Given the description of an element on the screen output the (x, y) to click on. 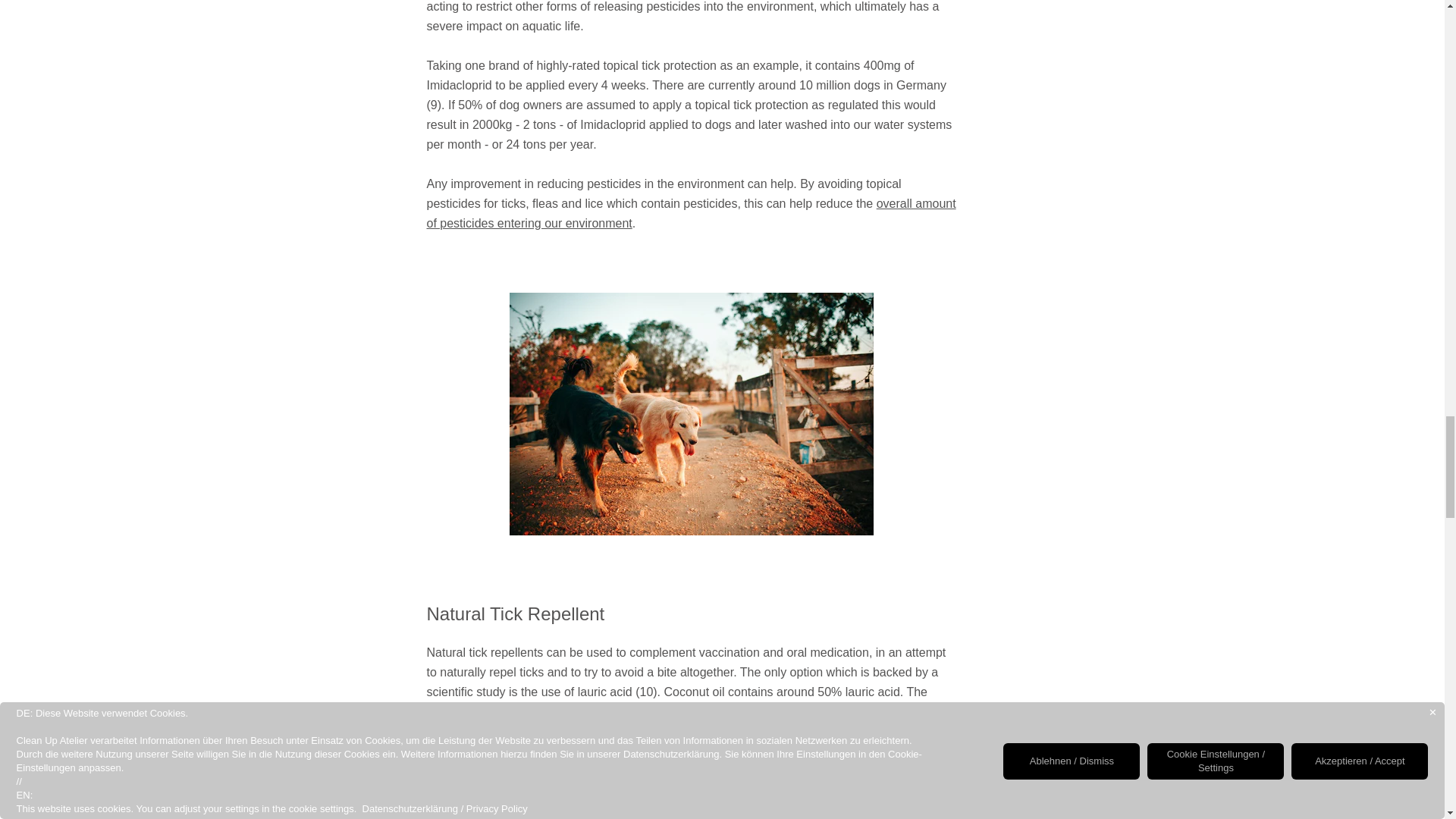
Zeckenschutz Hunde (691, 413)
